Given the description of an element on the screen output the (x, y) to click on. 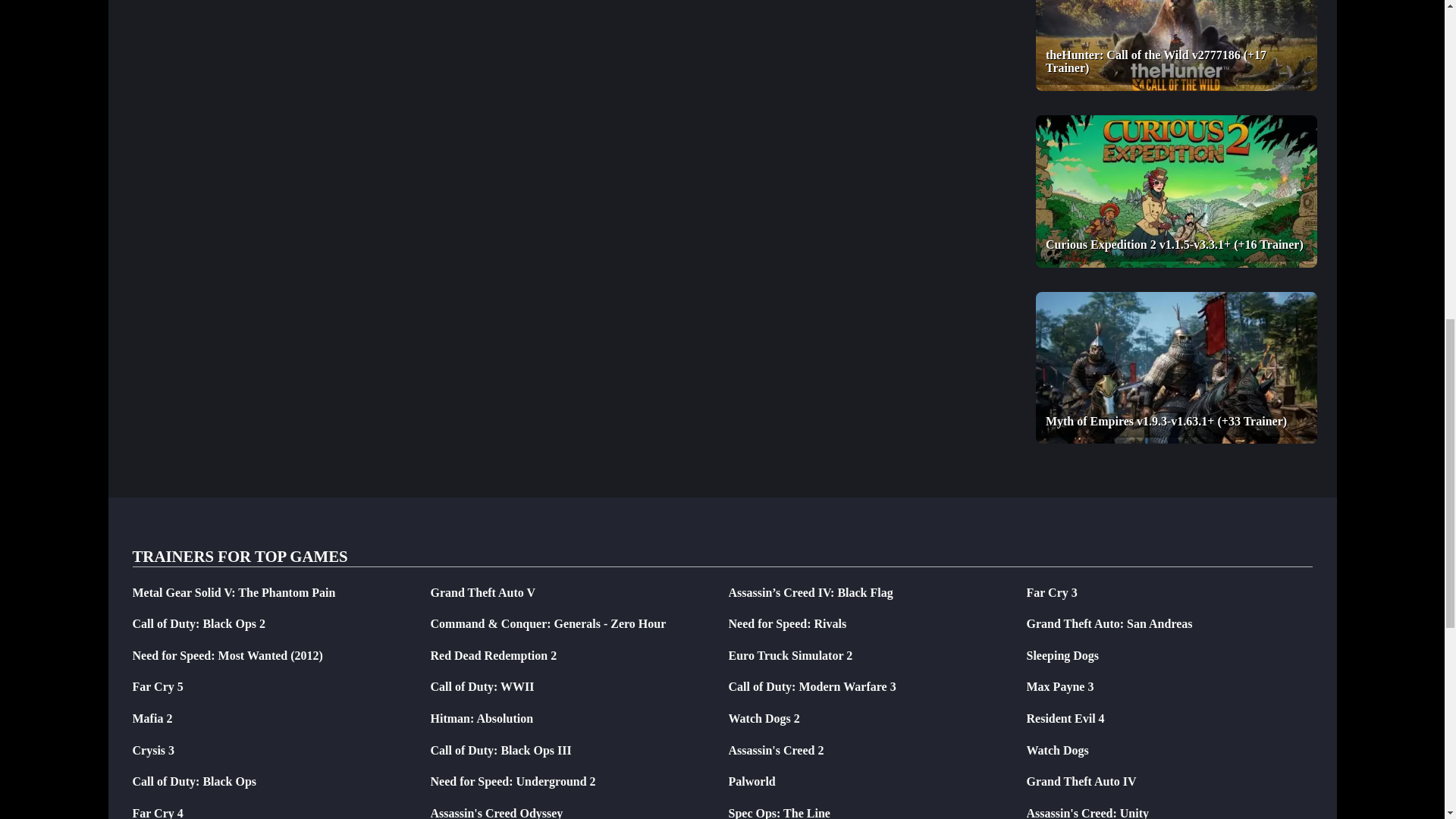
Grand Theft Auto V (482, 592)
Metal Gear Solid V: The Phantom Pain (233, 592)
Far Cry 3 (1051, 592)
